Given the description of an element on the screen output the (x, y) to click on. 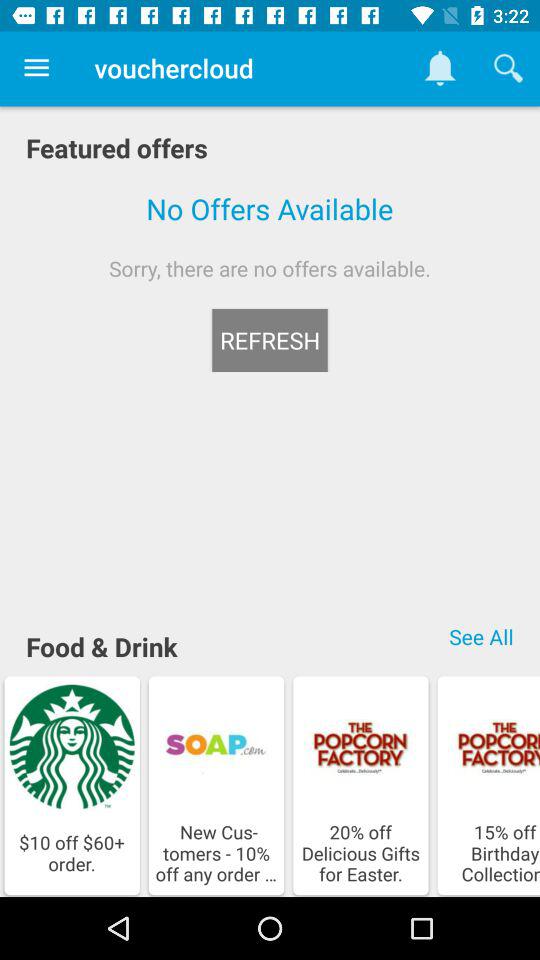
launch the refresh at the center (269, 340)
